Given the description of an element on the screen output the (x, y) to click on. 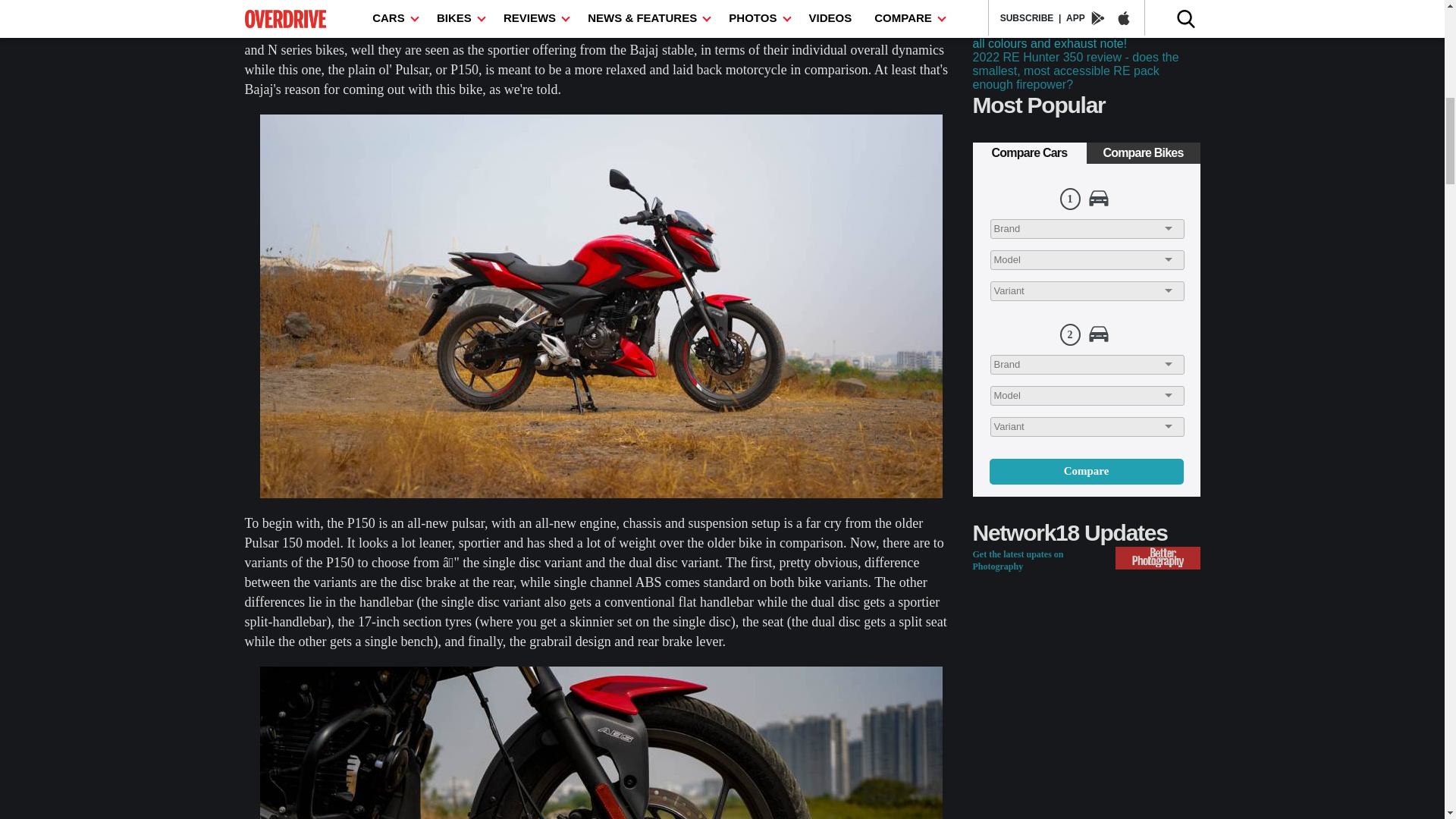
Bajaj Pulsar P150 first ride review: A star, reborn (600, 742)
